Given the description of an element on the screen output the (x, y) to click on. 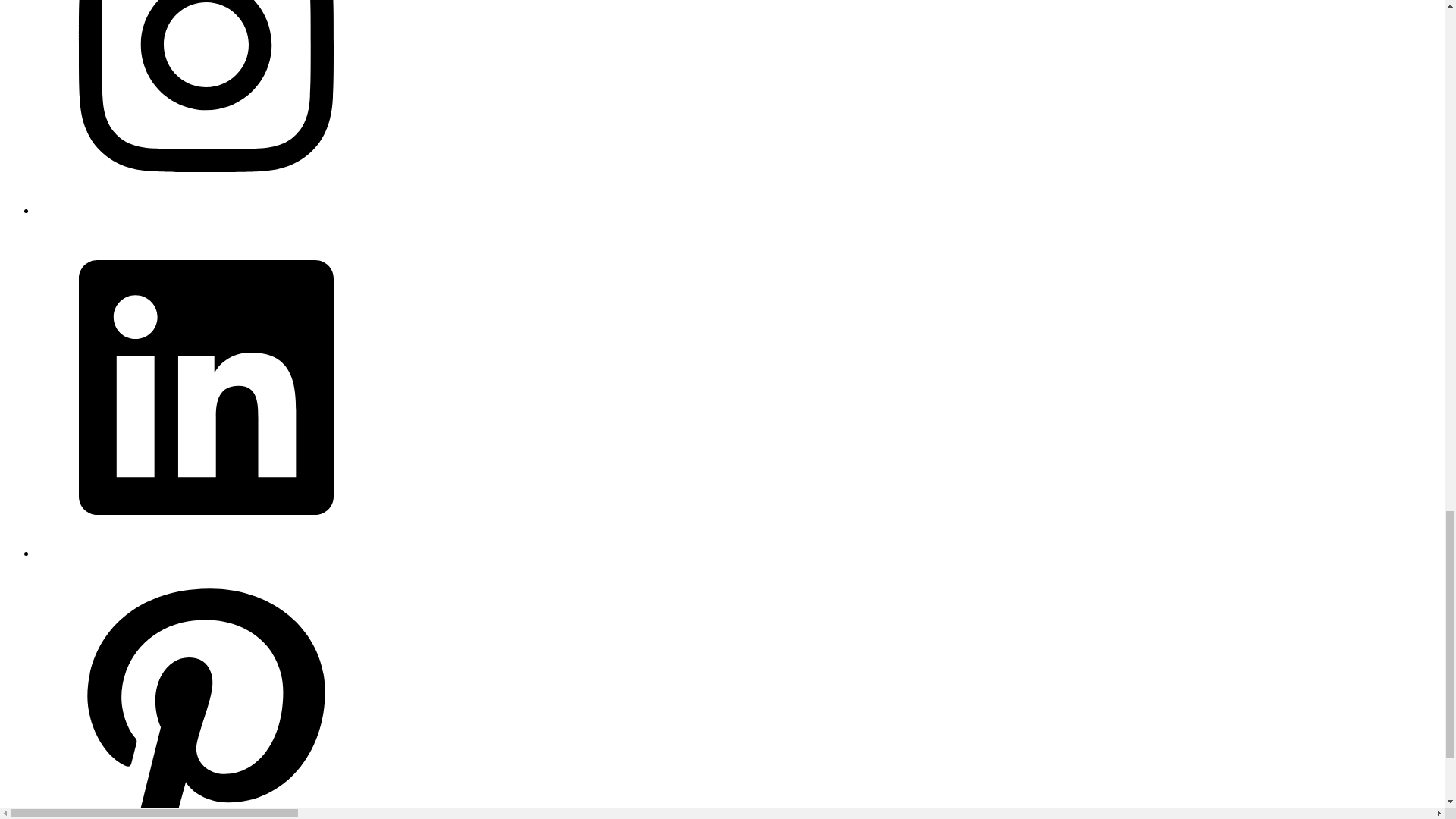
Open Instagram in a new tab (205, 210)
Open LinkedIn in a new tab (205, 553)
